Given the description of an element on the screen output the (x, y) to click on. 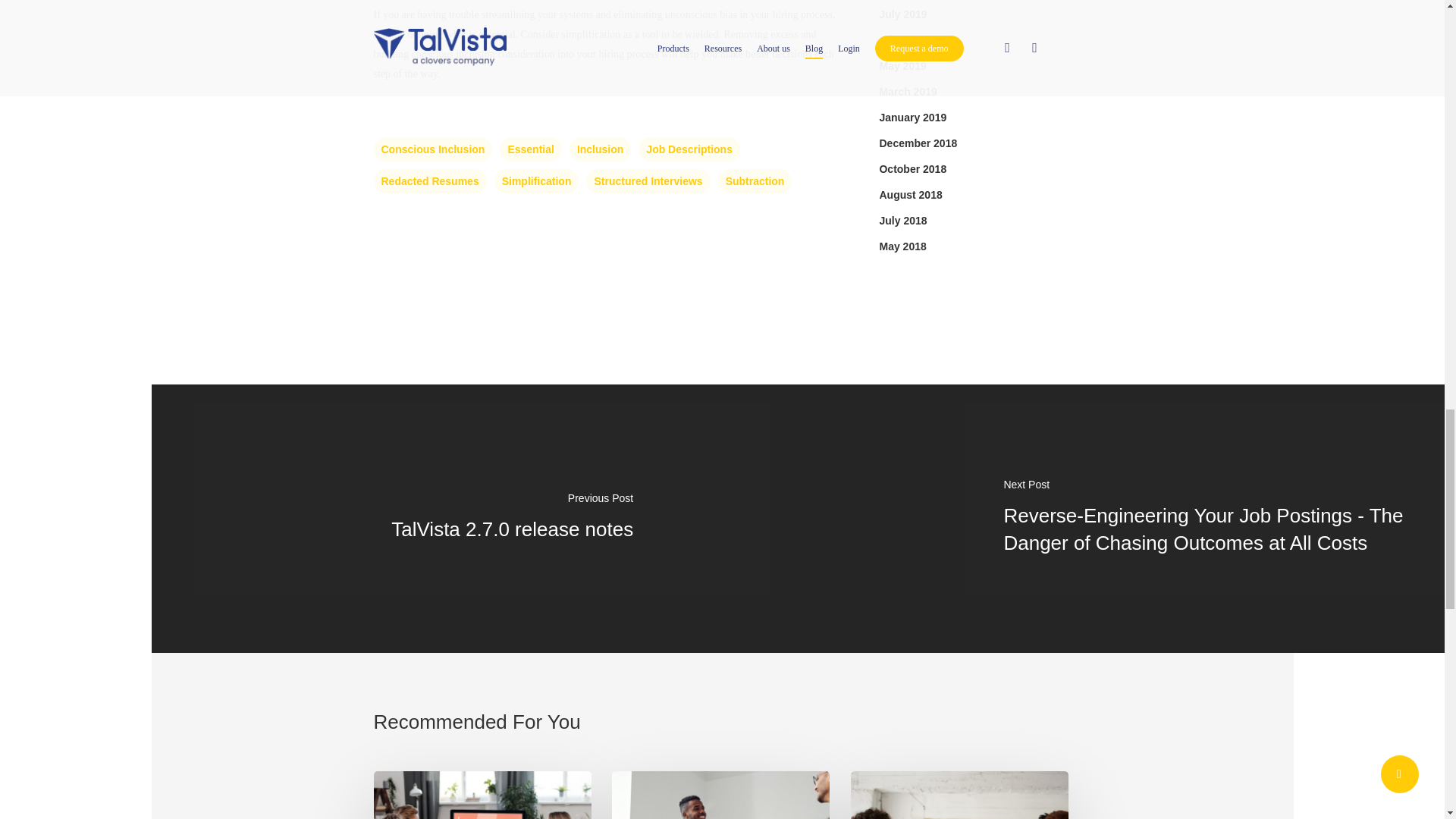
Essential (529, 149)
Subtraction (754, 180)
Inclusion (599, 149)
Conscious Inclusion (432, 149)
Structured Interviews (648, 180)
Redacted Resumes (429, 180)
Job Descriptions (689, 149)
Simplification (537, 180)
